Given the description of an element on the screen output the (x, y) to click on. 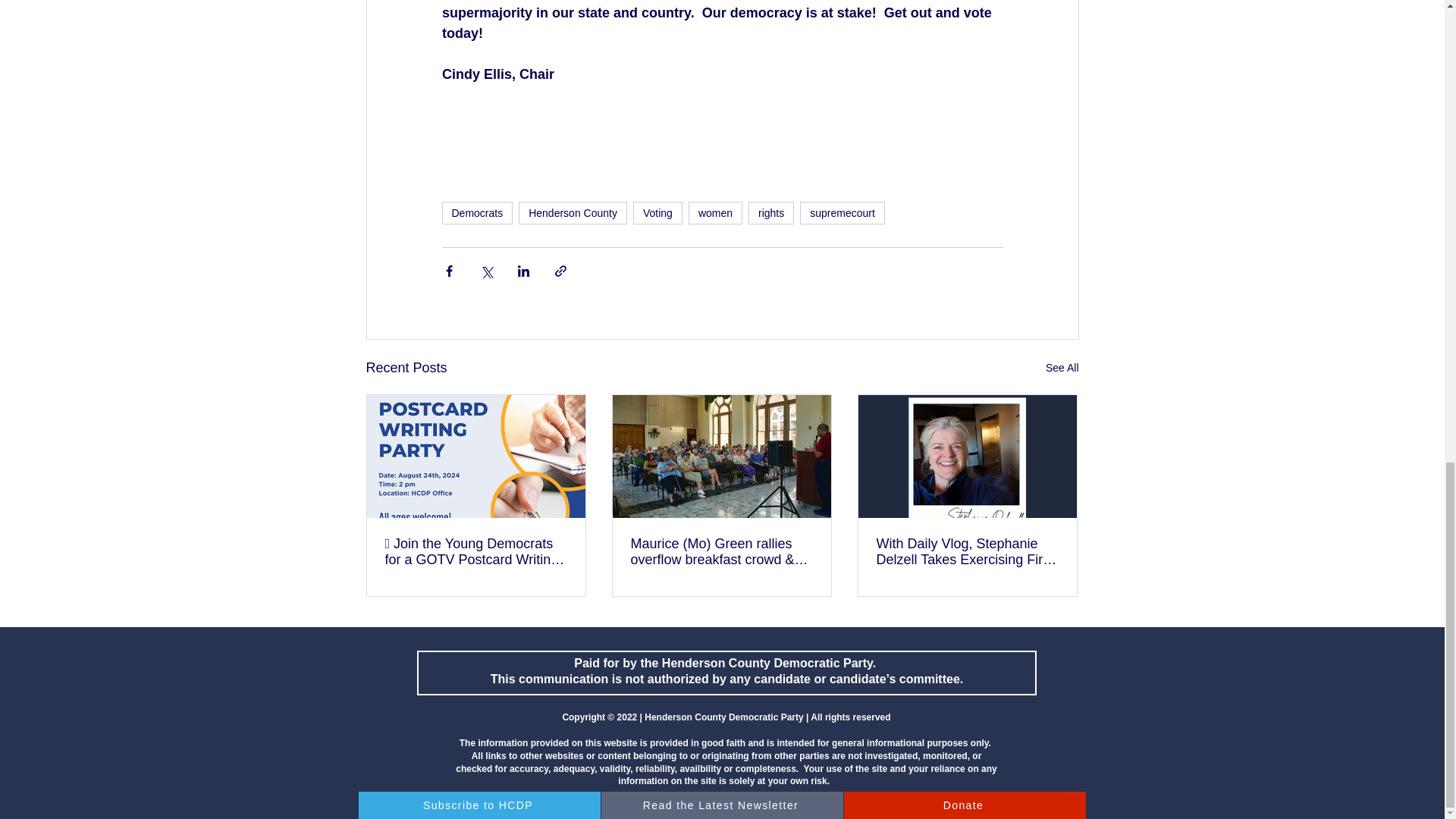
rights (770, 212)
supremecourt (842, 212)
women (715, 212)
Democrats (476, 212)
Voting (657, 212)
Henderson County (572, 212)
